Given the description of an element on the screen output the (x, y) to click on. 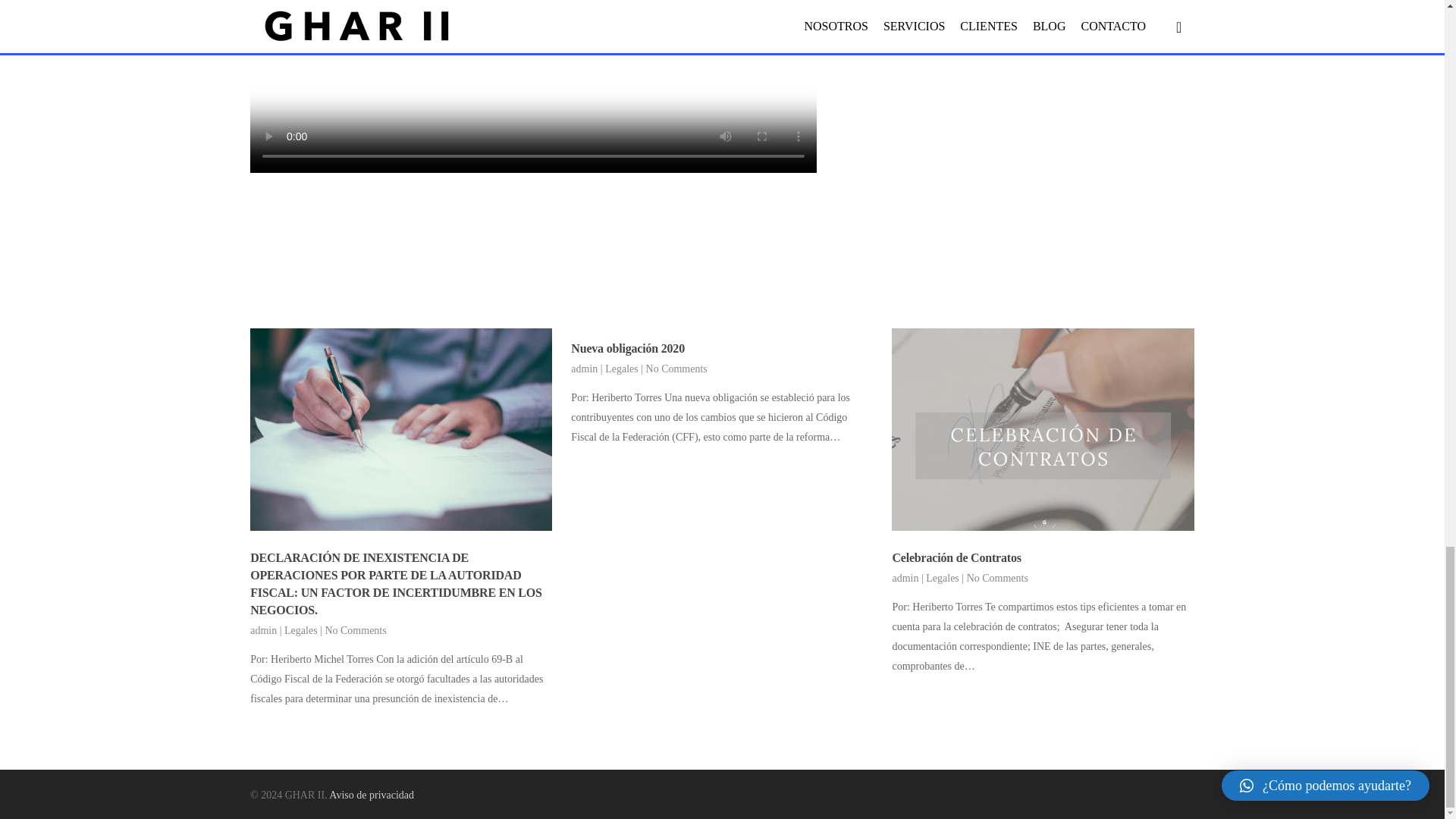
admin (904, 577)
Legales (622, 368)
Legales (942, 577)
Legales (300, 630)
Aviso de privacidad (371, 794)
No Comments (676, 368)
No Comments (354, 630)
Posts by admin (263, 630)
No Comments (996, 577)
Posts by admin (904, 577)
